Given the description of an element on the screen output the (x, y) to click on. 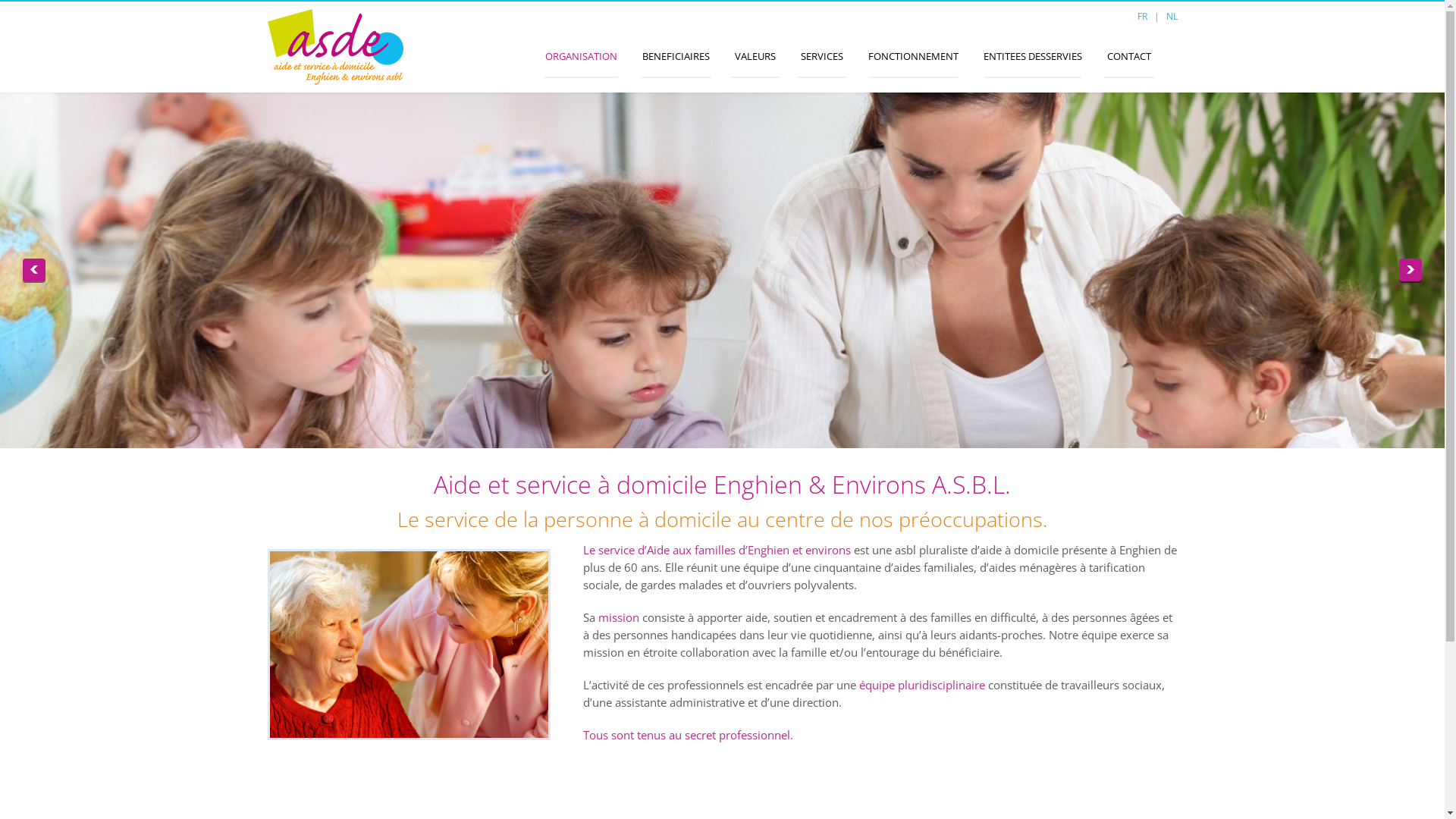
ENTITEES DESSERVIES Element type: text (1031, 56)
VALEURS Element type: text (754, 56)
CONTACT Element type: text (1128, 56)
FONCTIONNEMENT Element type: text (912, 56)
ORGANISATION Element type: text (580, 56)
NL Element type: text (1171, 15)
next Element type: text (1410, 269)
SERVICES Element type: text (821, 56)
BENEFICIAIRES Element type: text (674, 56)
FR Element type: text (1142, 15)
previous Element type: text (33, 269)
